Given the description of an element on the screen output the (x, y) to click on. 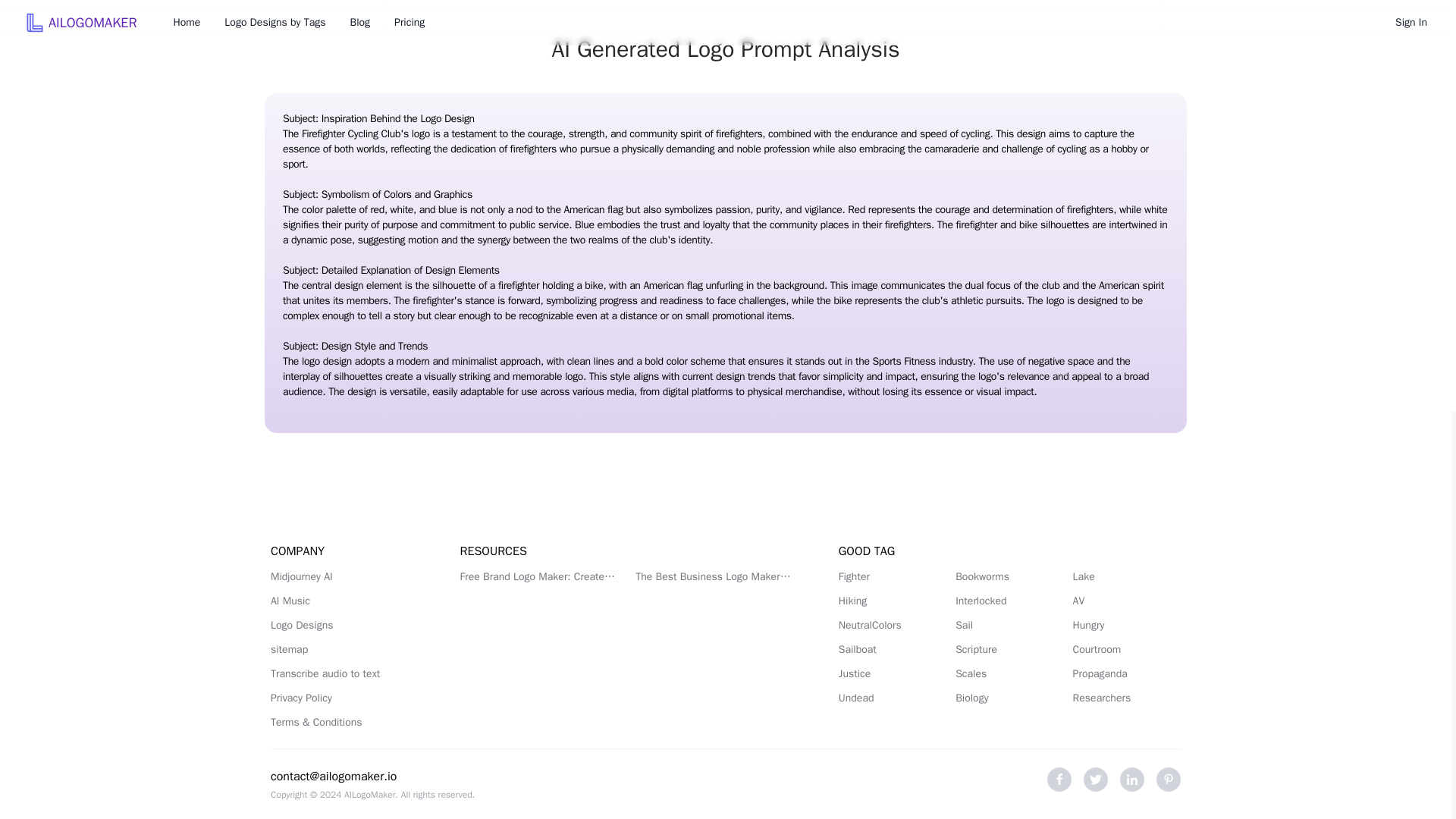
Interlocked (1008, 601)
Midjourney AI (346, 576)
Privacy Policy (346, 698)
Hiking (892, 601)
sitemap (346, 649)
Fighter (892, 576)
Scripture (1008, 649)
Transcribe audio to text (346, 673)
Sailboat (892, 649)
Bookworms (1008, 576)
Bookworms (1008, 576)
Logo Designs (346, 625)
Fighter (892, 576)
